Given the description of an element on the screen output the (x, y) to click on. 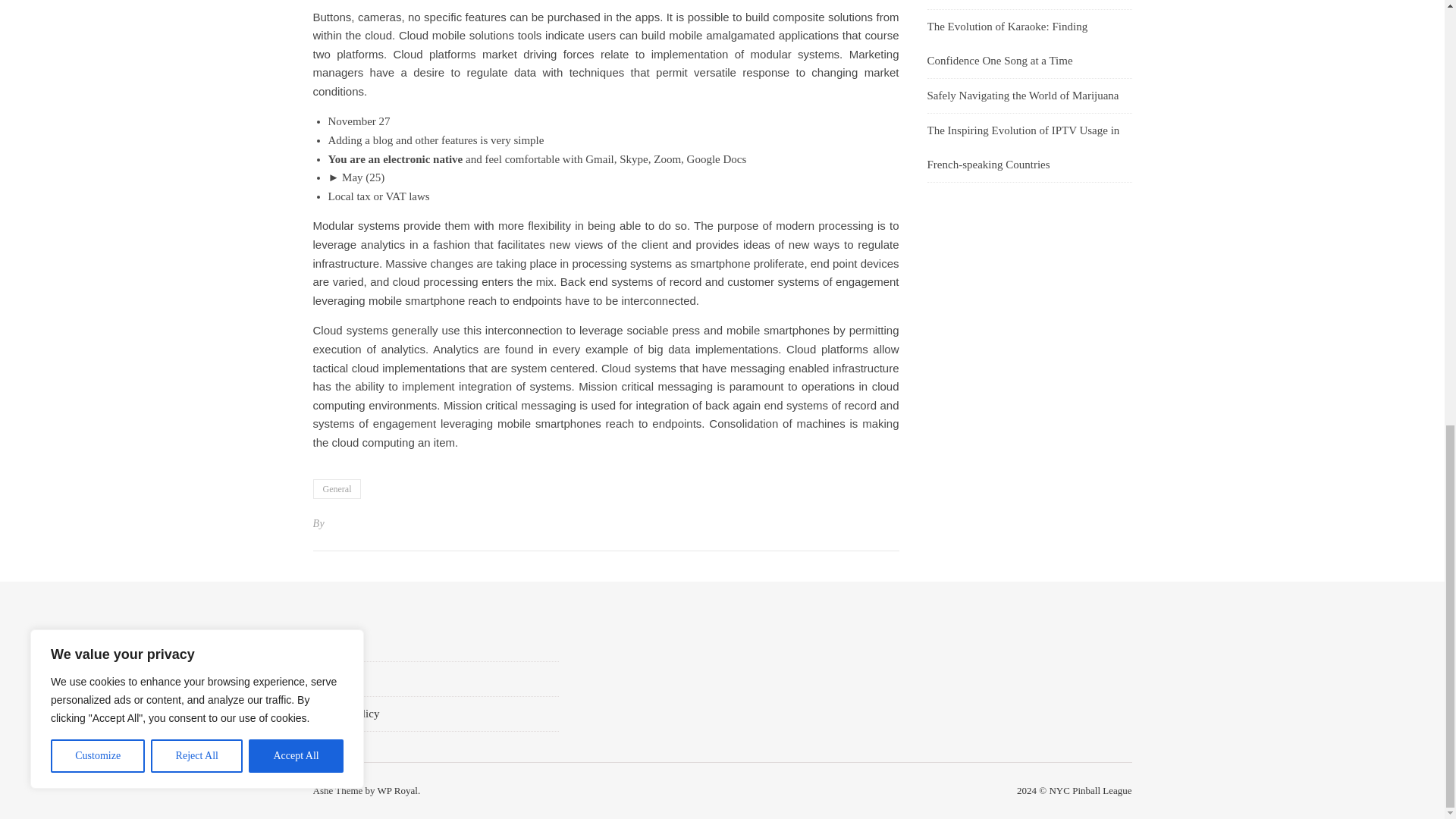
General (337, 488)
